Given the description of an element on the screen output the (x, y) to click on. 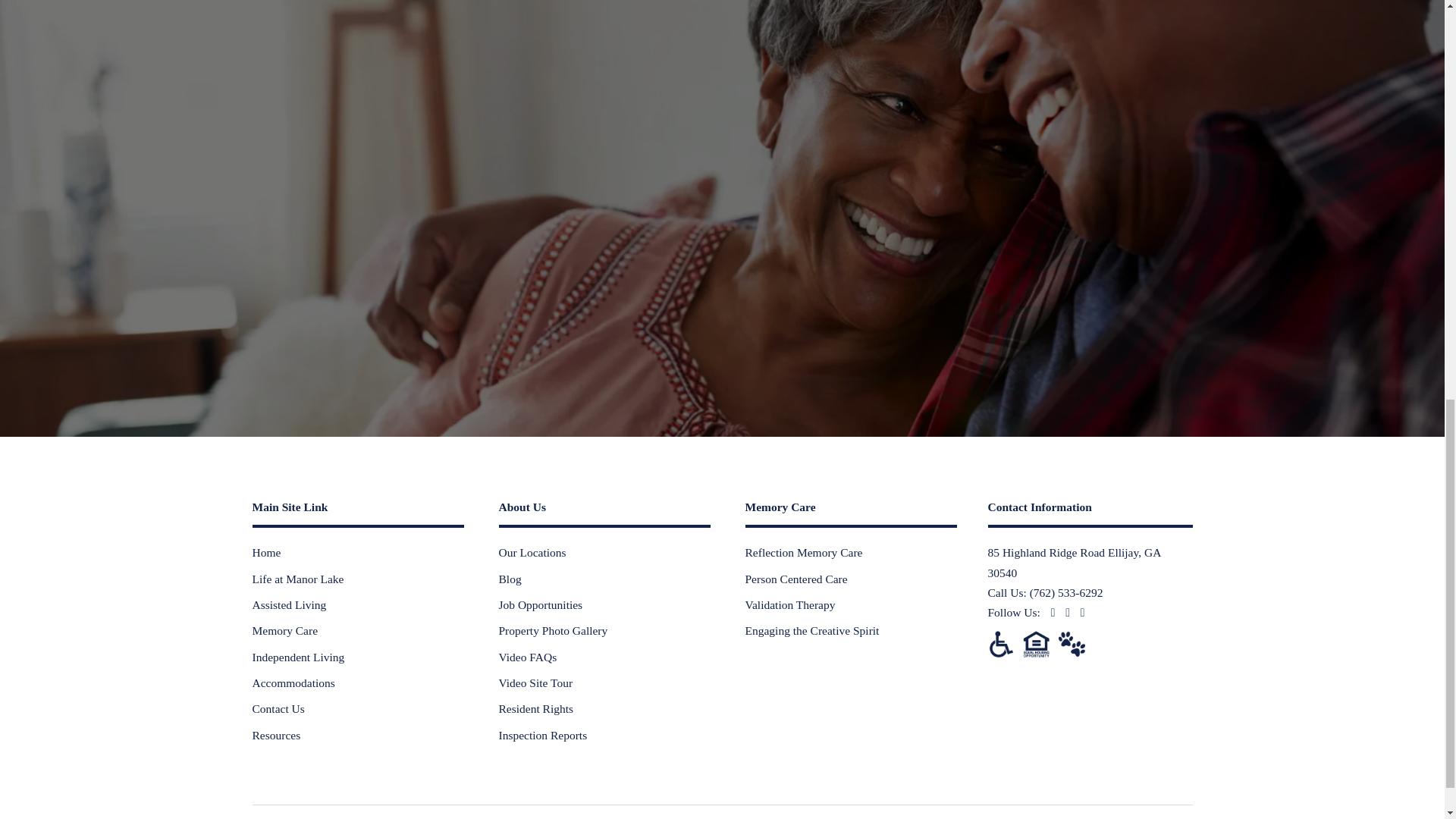
Pet Friendly (1071, 643)
Americans with Disabilities Act (1000, 643)
Equal Housing Opportunity (1036, 643)
